Given the description of an element on the screen output the (x, y) to click on. 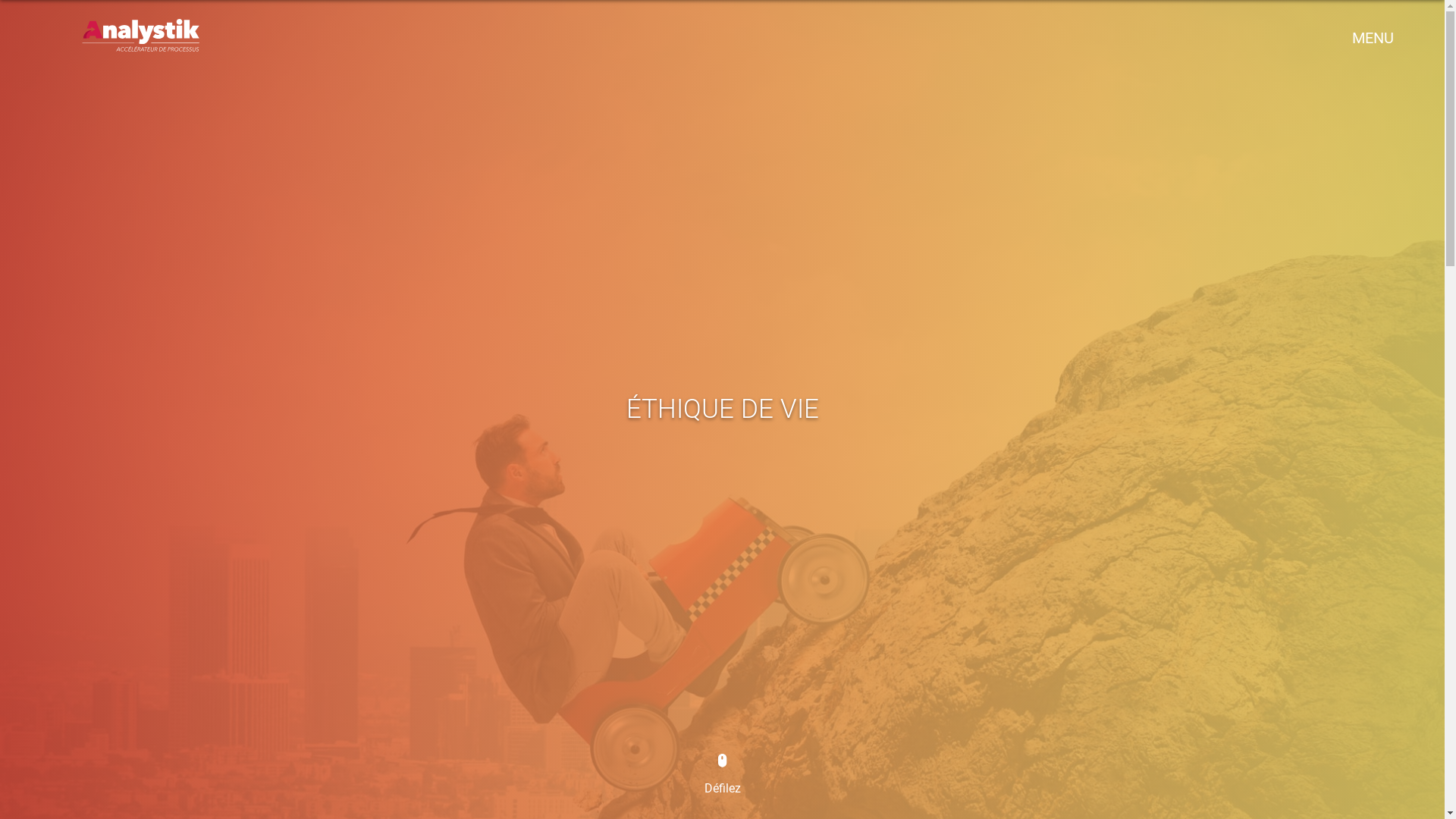
Clients Element type: text (1226, 434)
x Element type: text (1398, 22)
Blog Element type: text (1226, 490)
info@analystik.ca Element type: text (1226, 776)
Services Element type: text (1225, 404)
Accueil Element type: text (1225, 317)
Contact Element type: text (1226, 547)
